Given the description of an element on the screen output the (x, y) to click on. 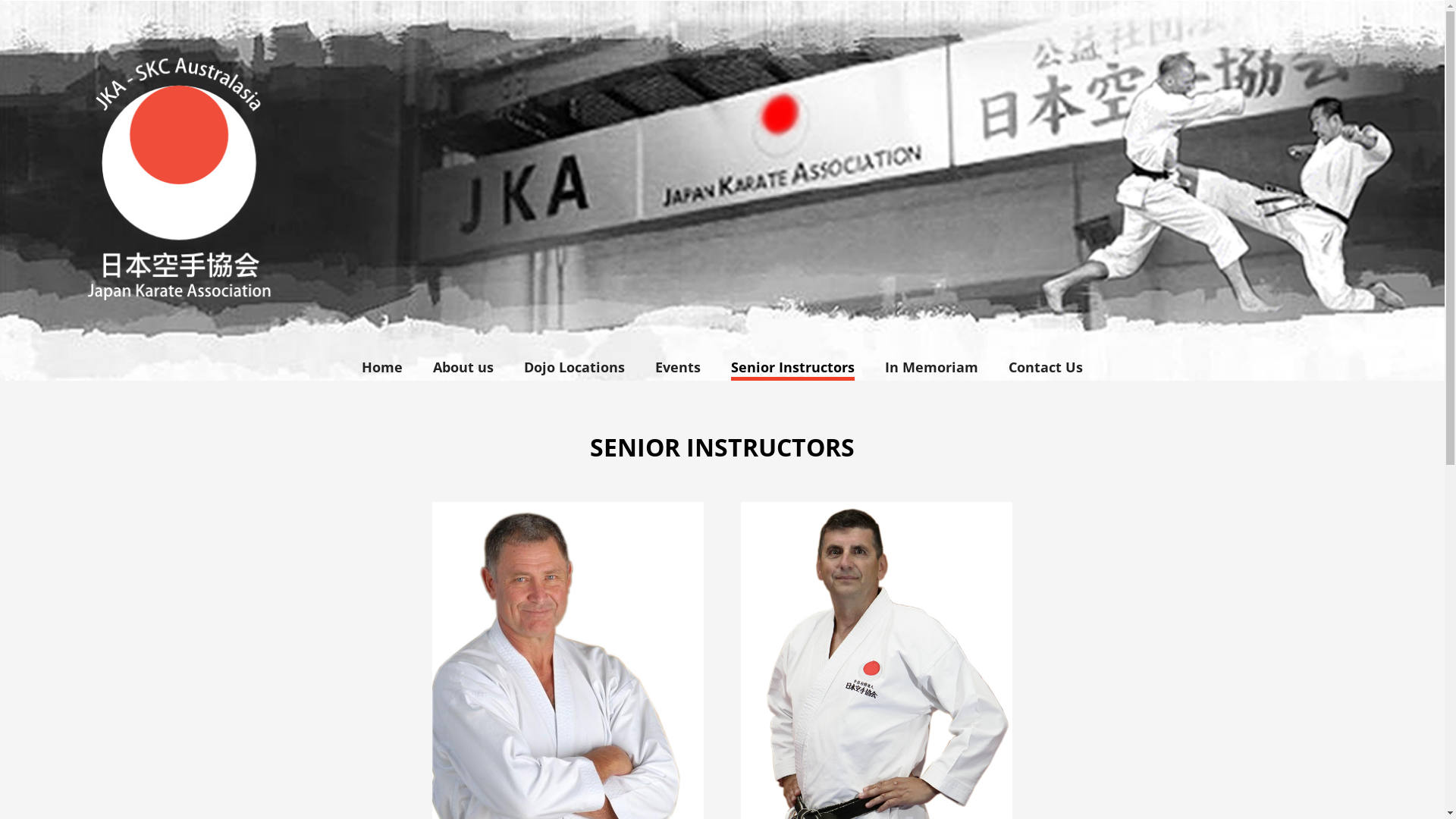
In Memoriam Element type: text (931, 366)
About us Element type: text (462, 366)
Japan Karate Association Element type: hover (722, 190)
Events Element type: text (677, 366)
Senior Instructors Element type: text (792, 366)
Dojo Locations Element type: text (574, 366)
Home Element type: text (381, 366)
Contact Us Element type: text (1045, 366)
